Given the description of an element on the screen output the (x, y) to click on. 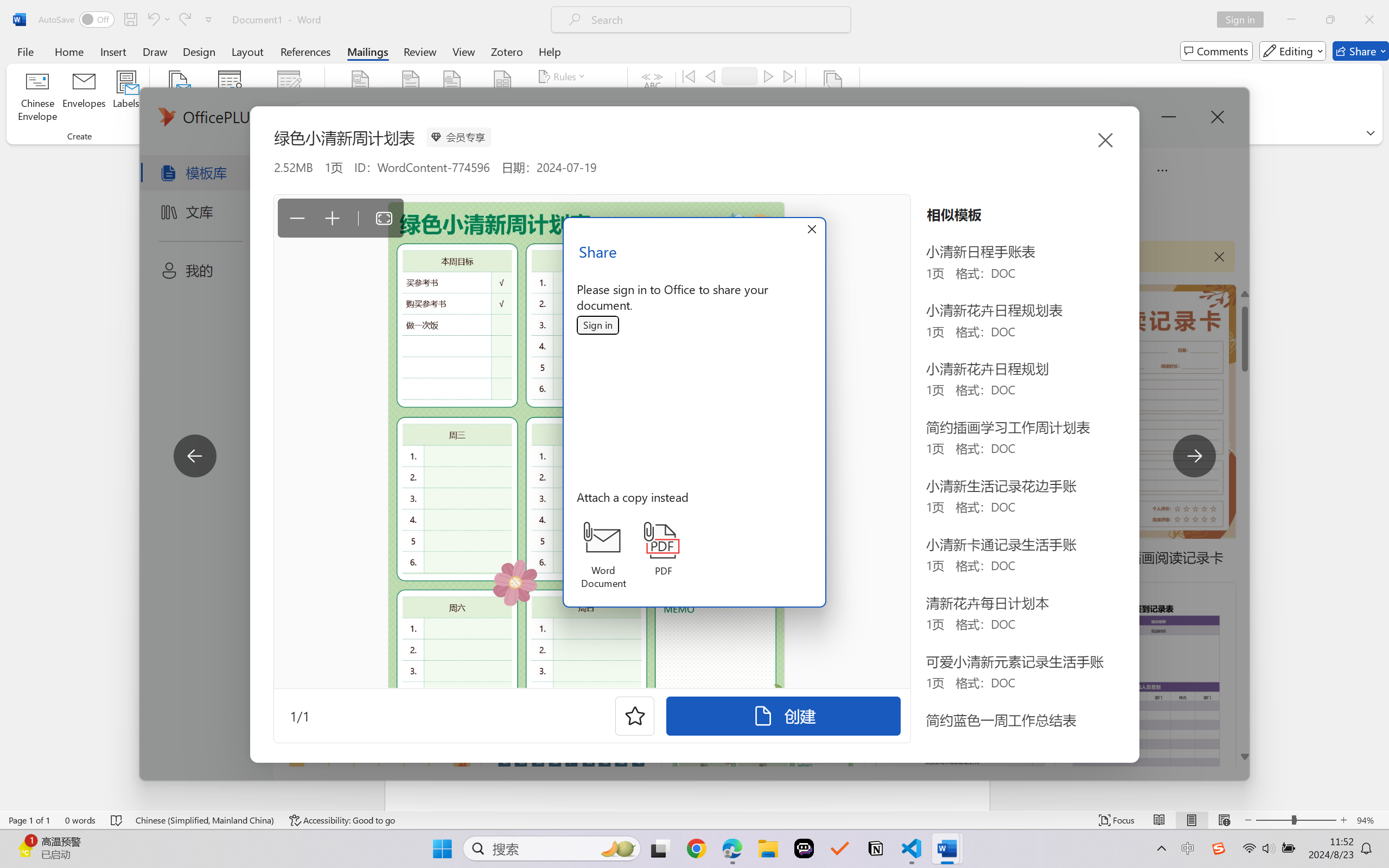
Sign in (597, 325)
Edit Recipient List... (288, 97)
Next (768, 75)
Last (790, 75)
Greeting Line... (451, 97)
Redo Apply Quick Style (184, 19)
Editing (1292, 50)
Check for Errors... (728, 118)
